Given the description of an element on the screen output the (x, y) to click on. 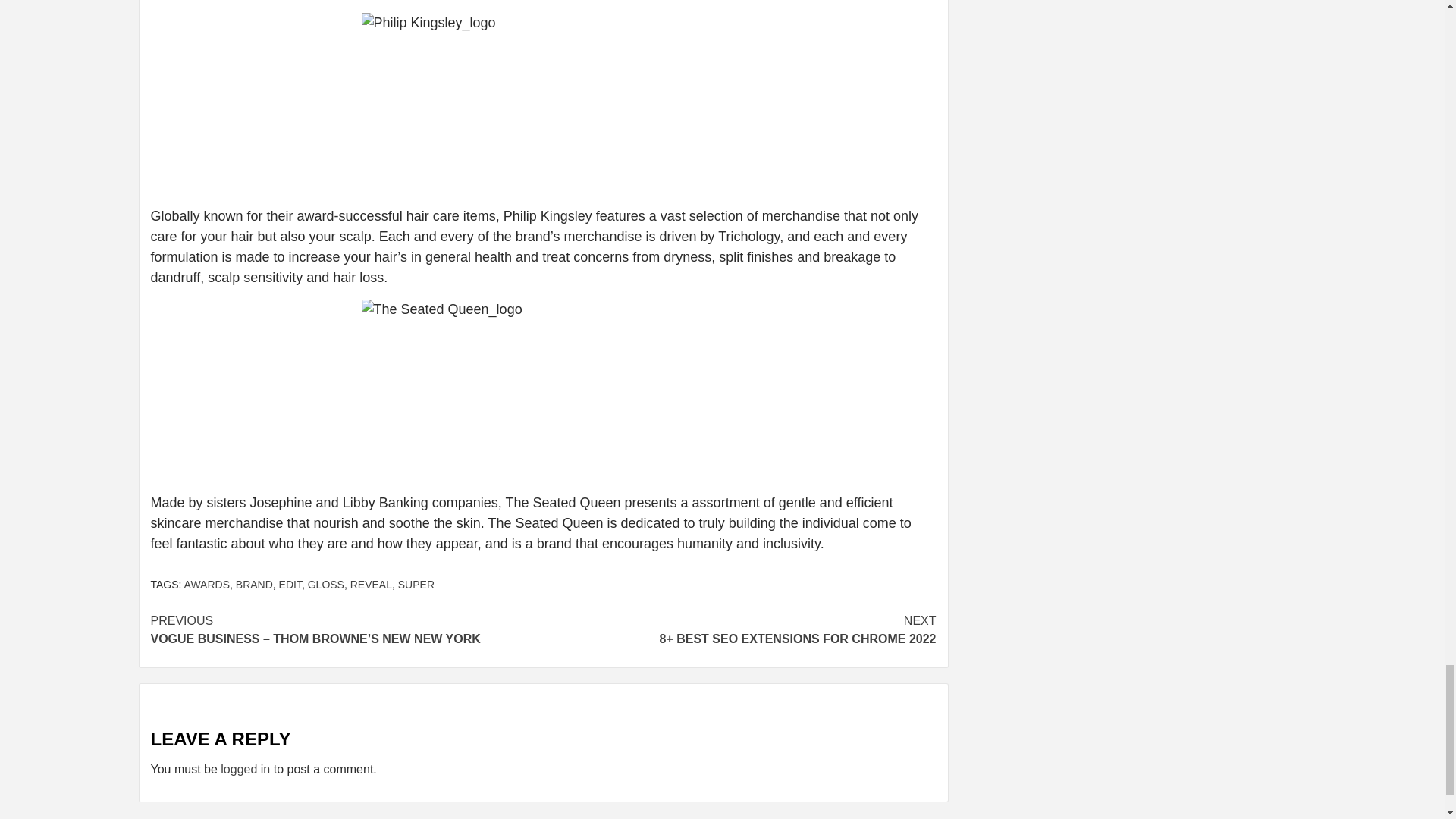
EDIT (290, 584)
REVEAL (370, 584)
SUPER (415, 584)
GLOSS (325, 584)
BRAND (254, 584)
AWARDS (207, 584)
logged in (245, 768)
